Given the description of an element on the screen output the (x, y) to click on. 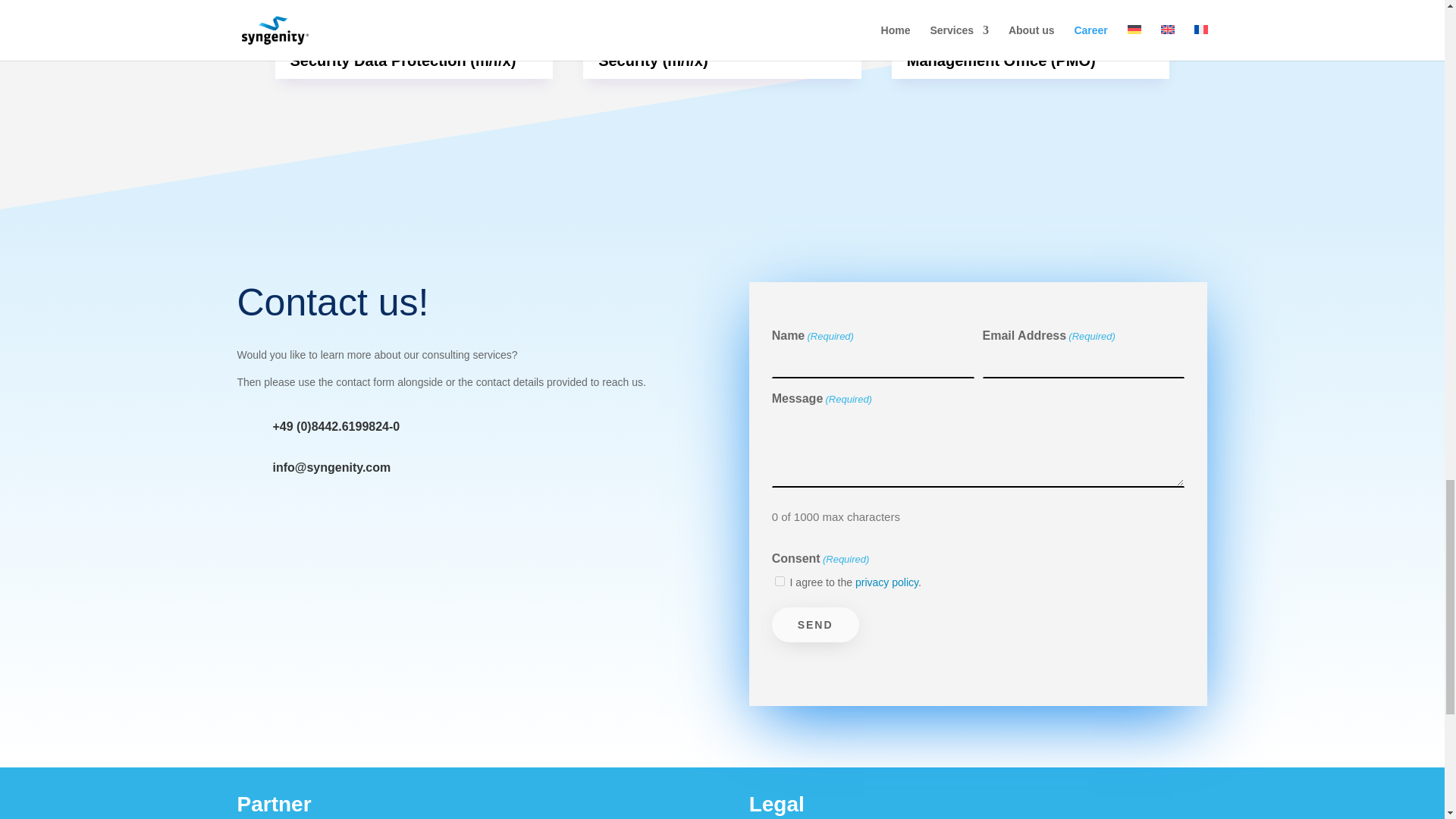
SEND (815, 624)
privacy policy (887, 582)
1 (779, 581)
SEND (815, 624)
